Given the description of an element on the screen output the (x, y) to click on. 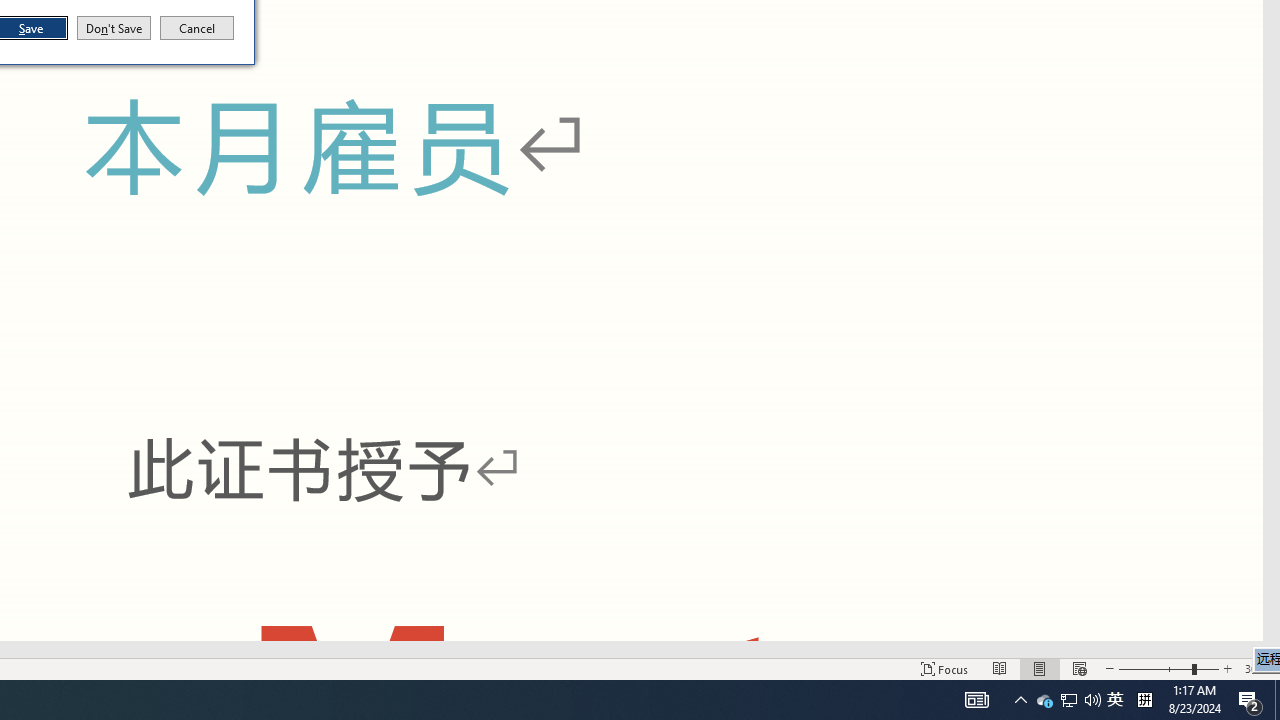
Zoom 308% (1258, 668)
